Given the description of an element on the screen output the (x, y) to click on. 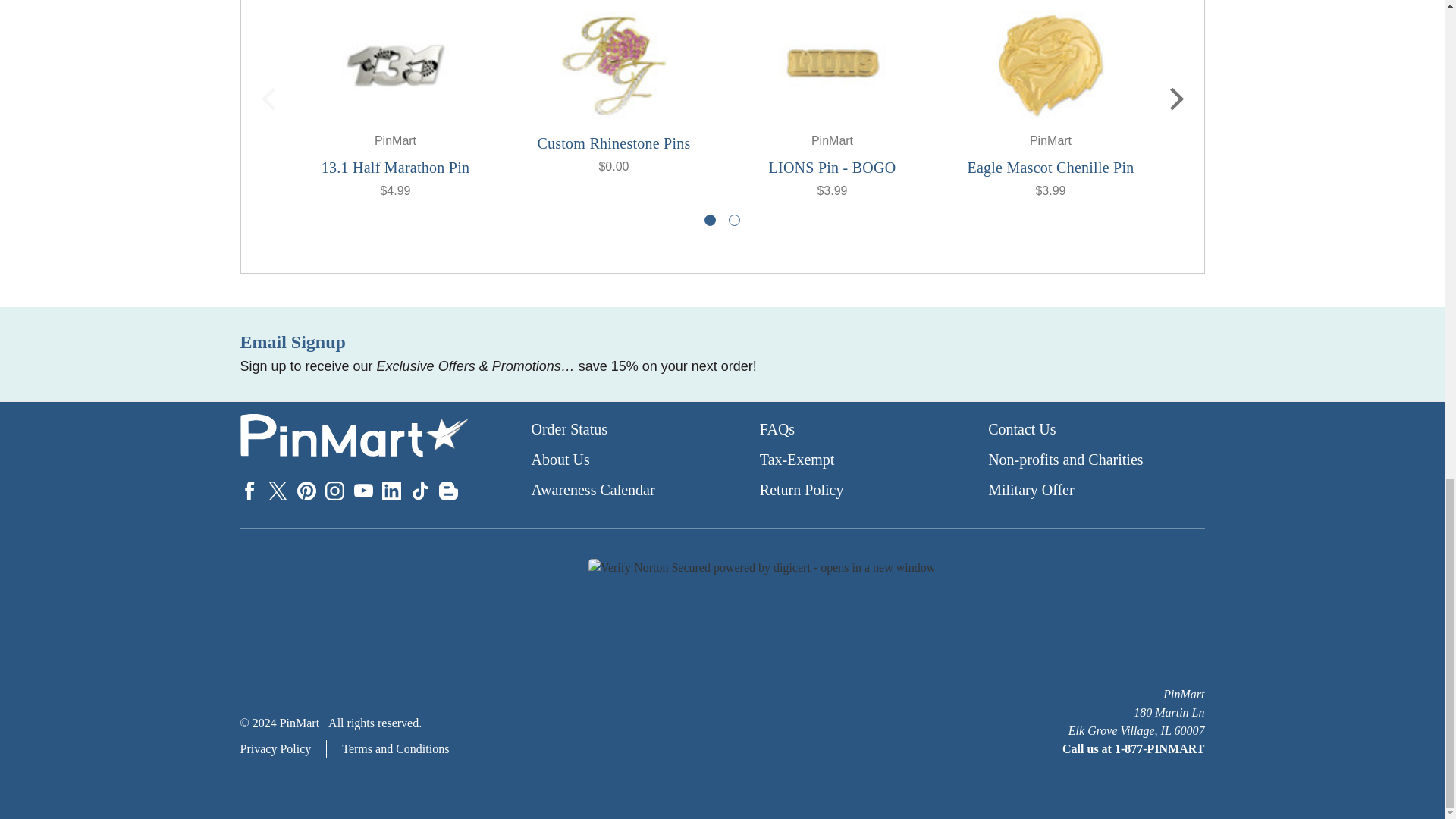
Lions Pin Front (831, 64)
Custom Rhinestone Pins (613, 64)
Eagle Mascot Chenille Pin Front (1050, 64)
13.1 Half Marathon Pin Front (395, 64)
WordPress Blog (448, 490)
